Given the description of an element on the screen output the (x, y) to click on. 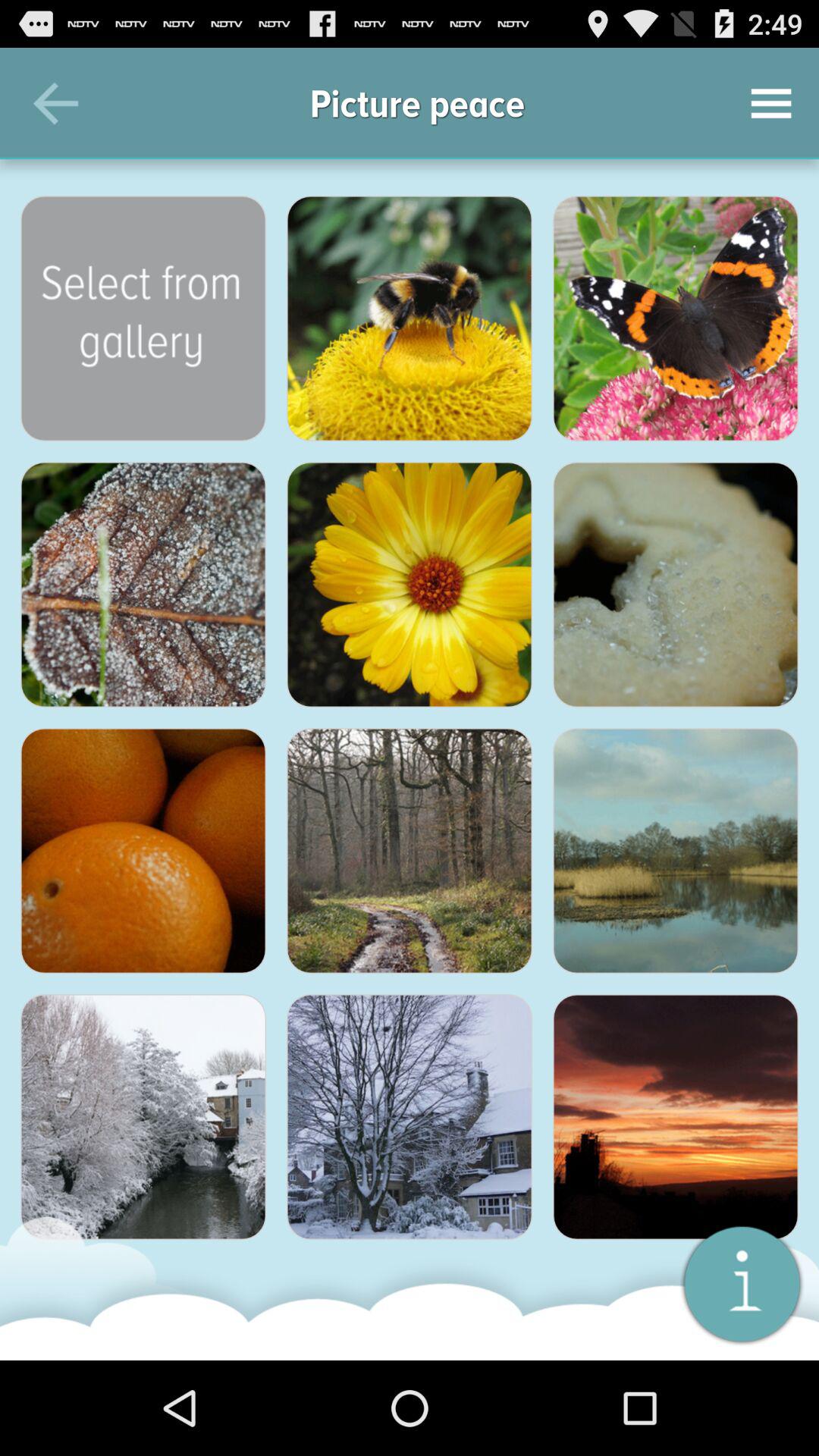
turn on the icon below picture peace item (409, 318)
